Given the description of an element on the screen output the (x, y) to click on. 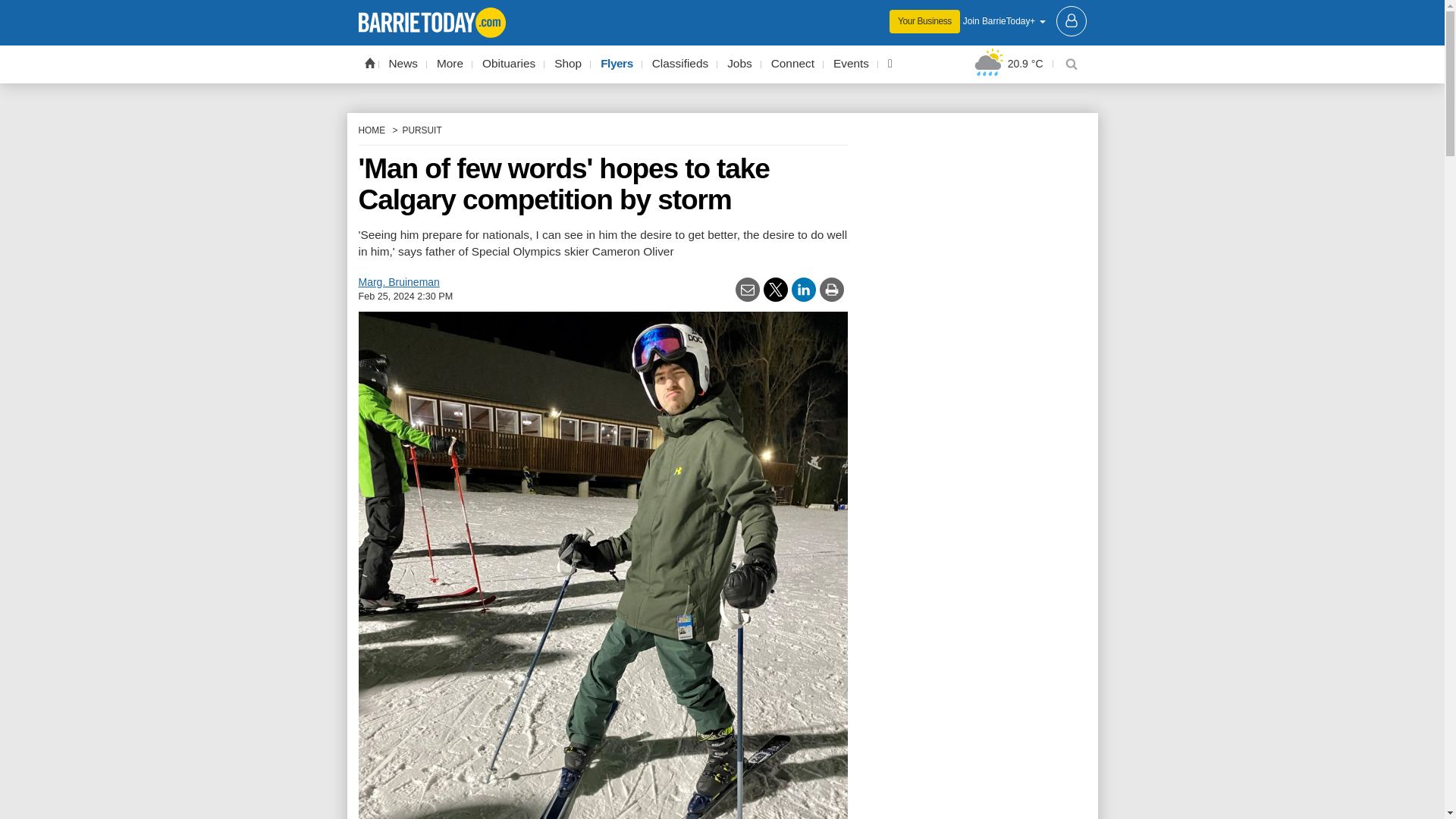
Your Business (924, 21)
News (403, 64)
Home (368, 62)
